Given the description of an element on the screen output the (x, y) to click on. 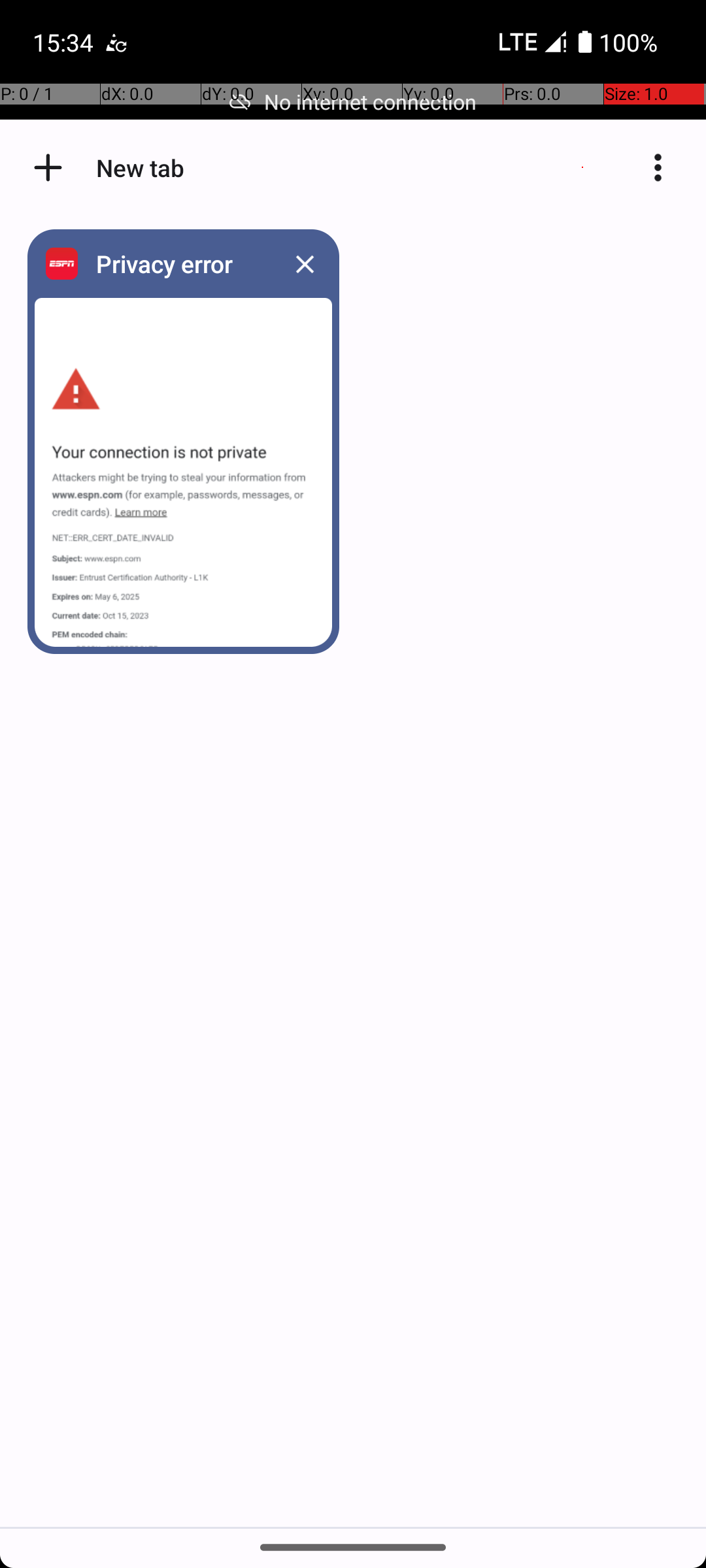
Privacy error Element type: android.widget.TextView (179, 263)
Close Privacy error tab Element type: android.widget.ImageView (304, 263)
New tab Element type: android.widget.ImageView (48, 167)
